Given the description of an element on the screen output the (x, y) to click on. 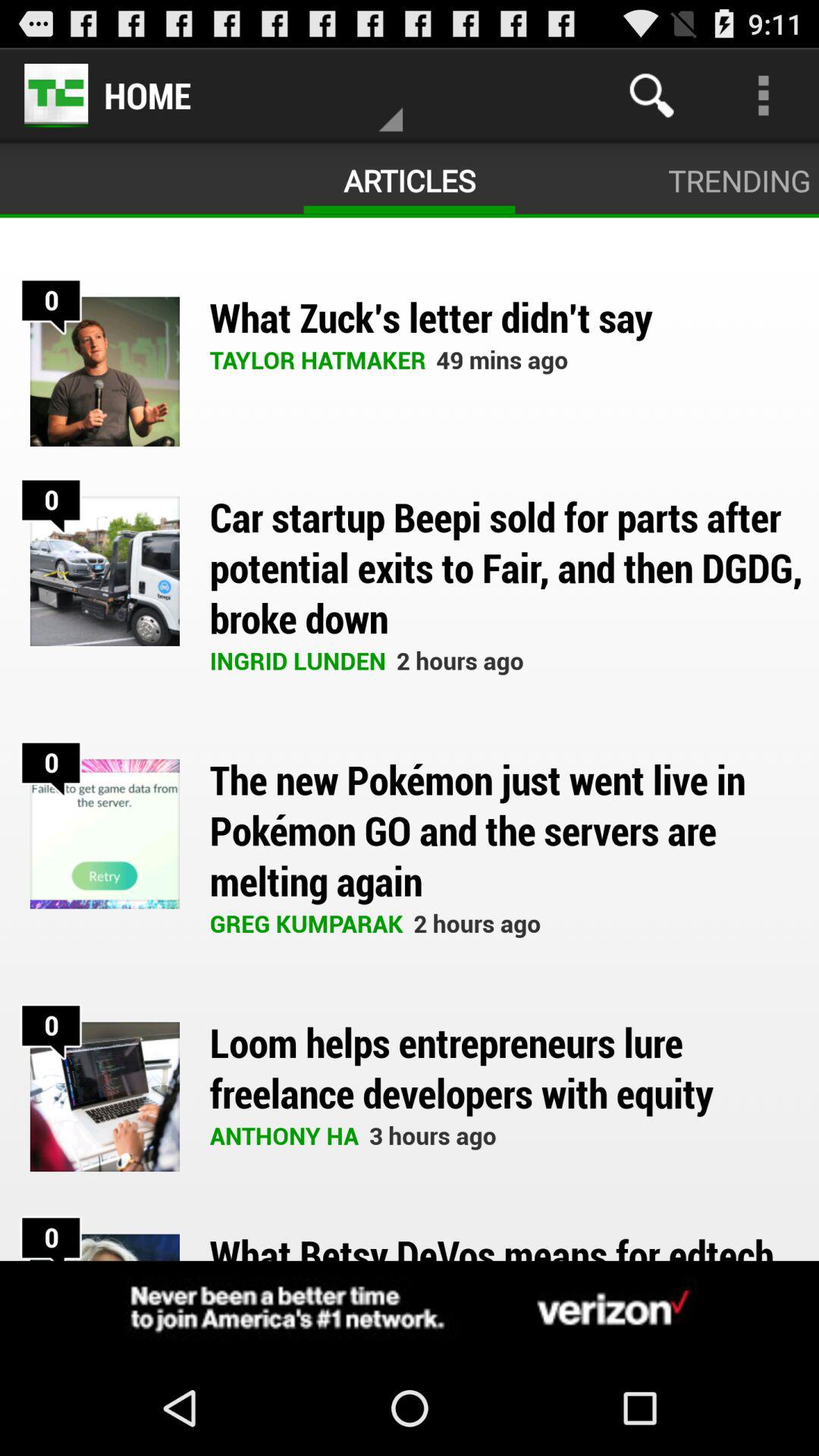
add of the option (409, 1310)
